Given the description of an element on the screen output the (x, y) to click on. 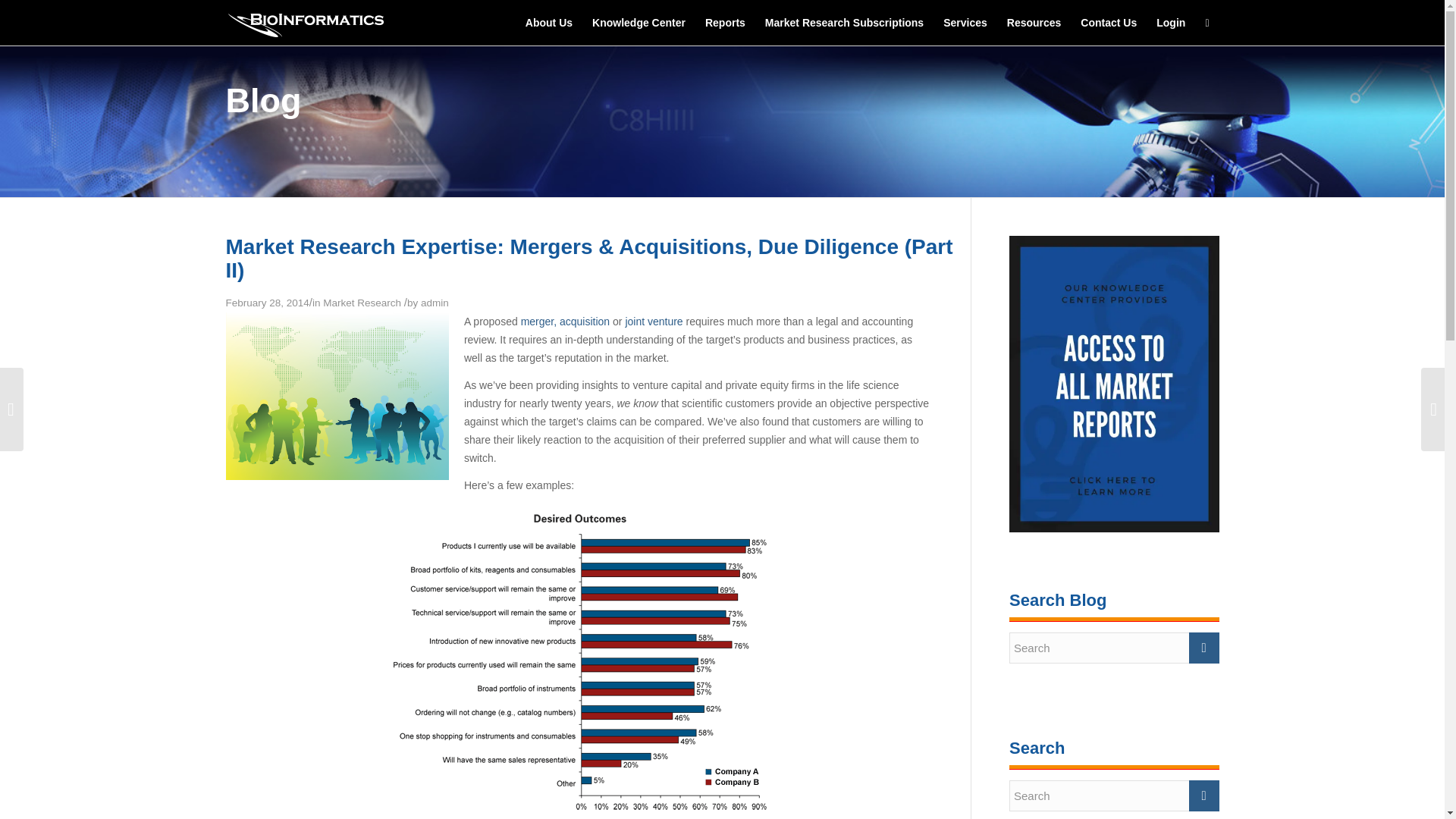
Blog (263, 100)
Permanent Link: Blog (263, 100)
Mergers and Aquisition Definition via Wikipedia (565, 321)
Market Research Subscriptions (844, 22)
Resources (1034, 22)
Knowledge Center (638, 22)
Login (1171, 22)
Joint Venture Definition via Wikipedia (653, 321)
Posts by admin (434, 302)
Reports (725, 22)
About Us (548, 22)
Market Research (362, 302)
Contact Us (1108, 22)
admin (434, 302)
Services (965, 22)
